Given the description of an element on the screen output the (x, y) to click on. 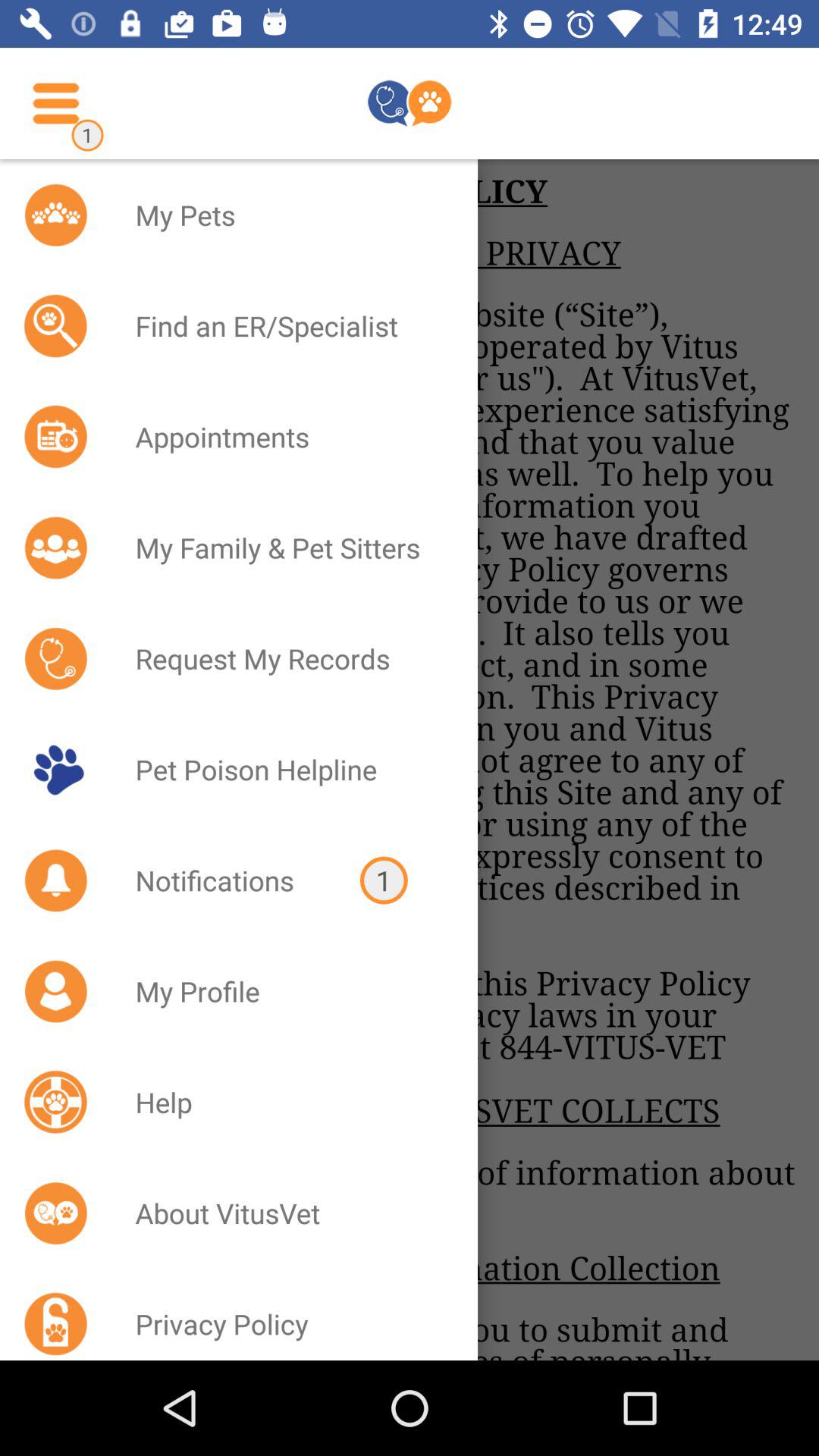
turn off the 1 item (383, 880)
